Given the description of an element on the screen output the (x, y) to click on. 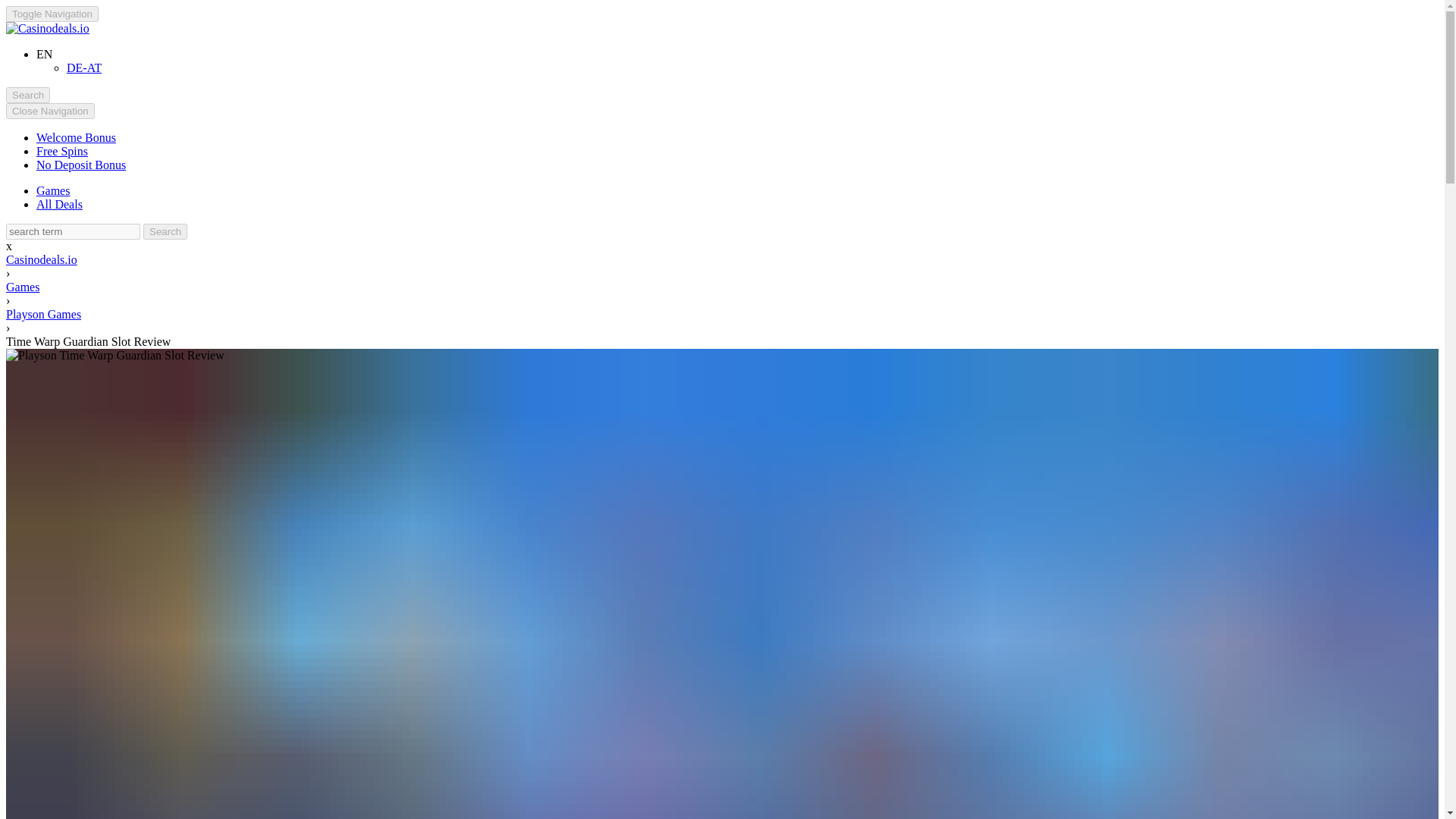
No Deposit Bonus (80, 164)
Welcome Bonus (76, 137)
Close Navigation (49, 110)
Free Spins (61, 151)
Casinodeals.io (46, 29)
Search (164, 231)
All Deals (59, 204)
Search (27, 94)
DE-AT (83, 67)
Games (52, 190)
